Given the description of an element on the screen output the (x, y) to click on. 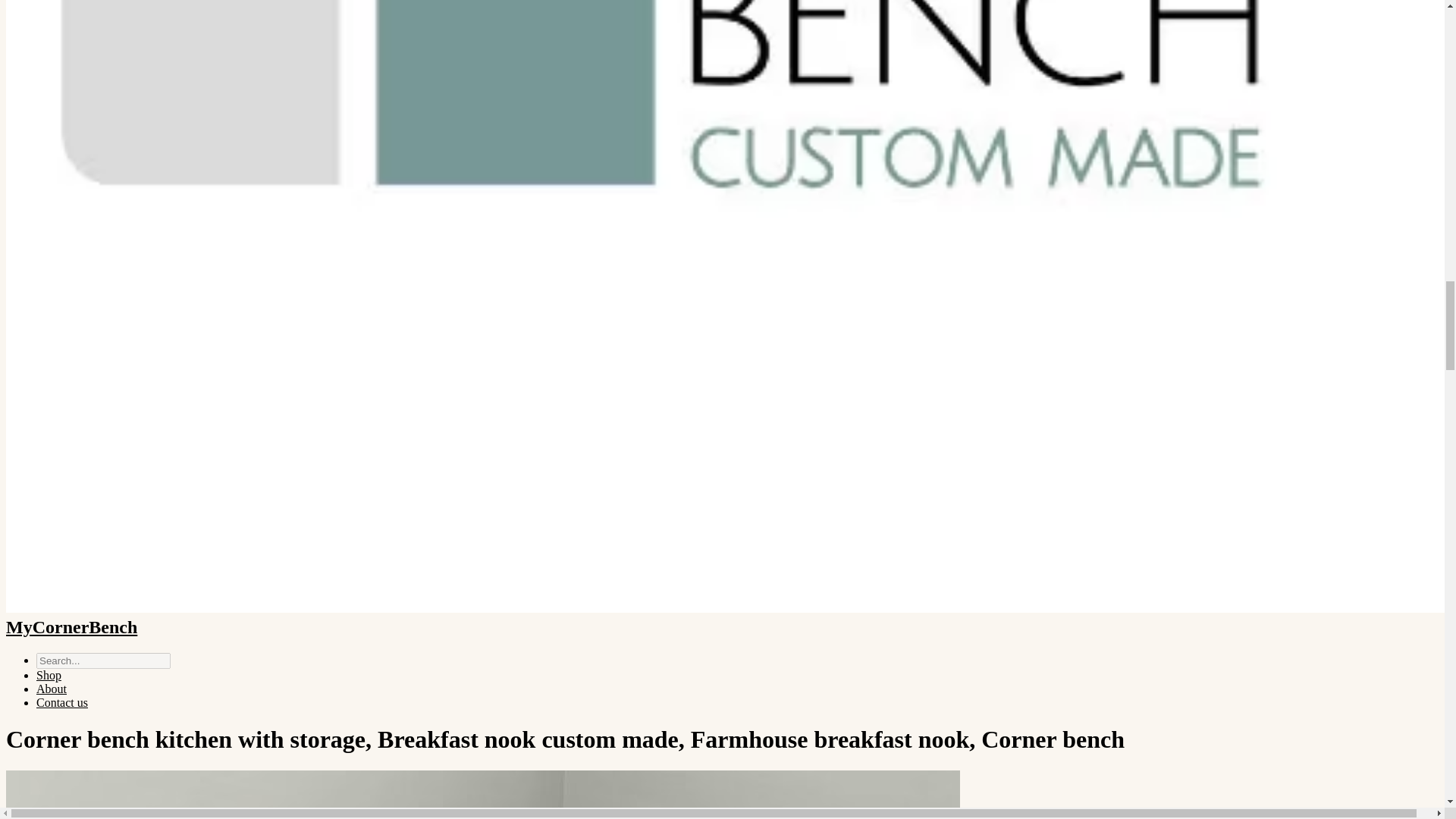
About (51, 688)
Shop (48, 675)
Contact us (61, 702)
